Given the description of an element on the screen output the (x, y) to click on. 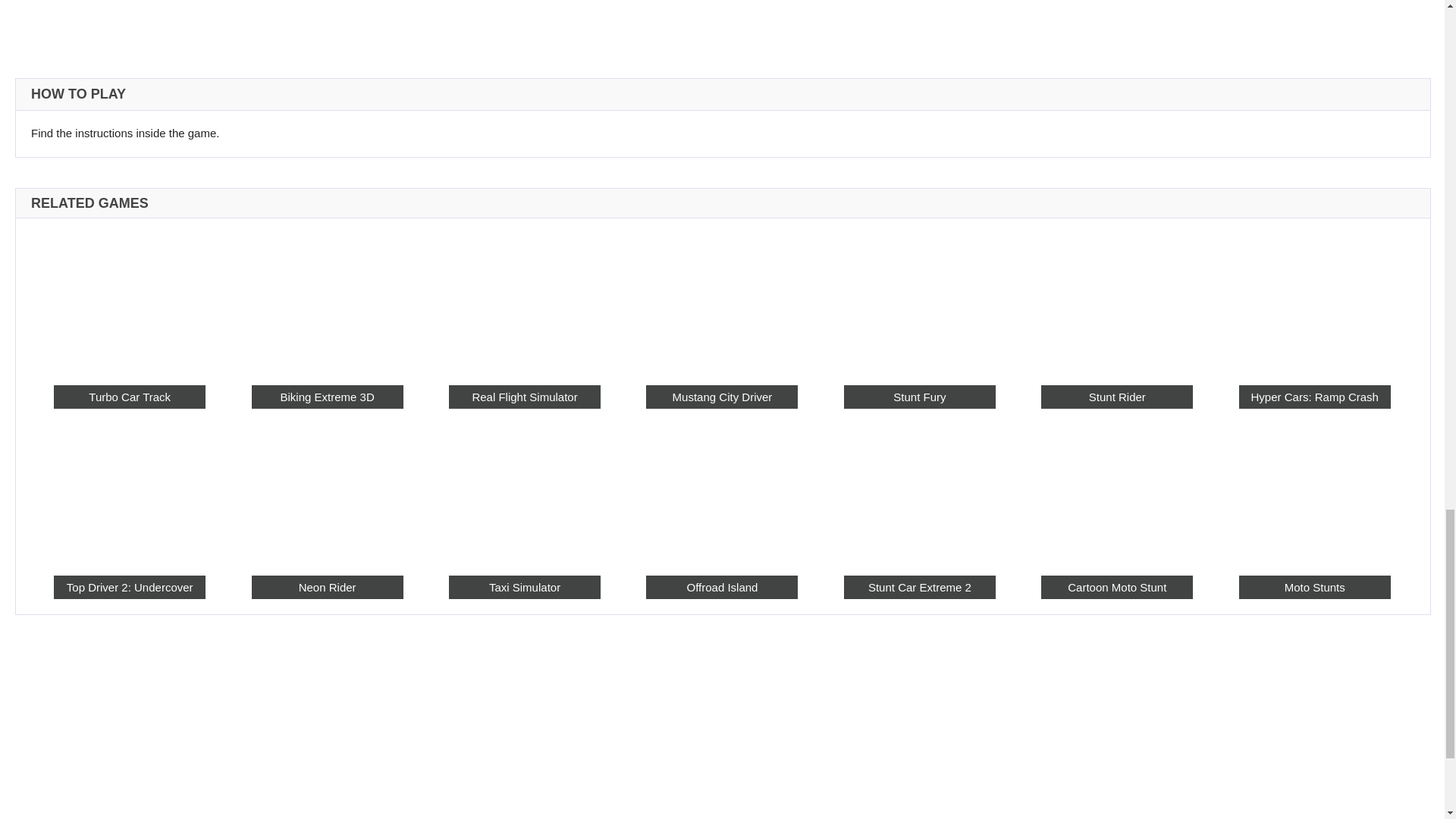
Stunt Rider (1116, 300)
Stunt Fury (919, 300)
Mustang City Driver (721, 396)
Real Flight Simulator (523, 396)
Stunt Fury (919, 396)
Turbo Car Track (129, 300)
Turbo Car Track (129, 396)
Biking Extreme 3D (327, 300)
Real Flight Simulator (523, 300)
Biking Extreme 3D (327, 396)
